Given the description of an element on the screen output the (x, y) to click on. 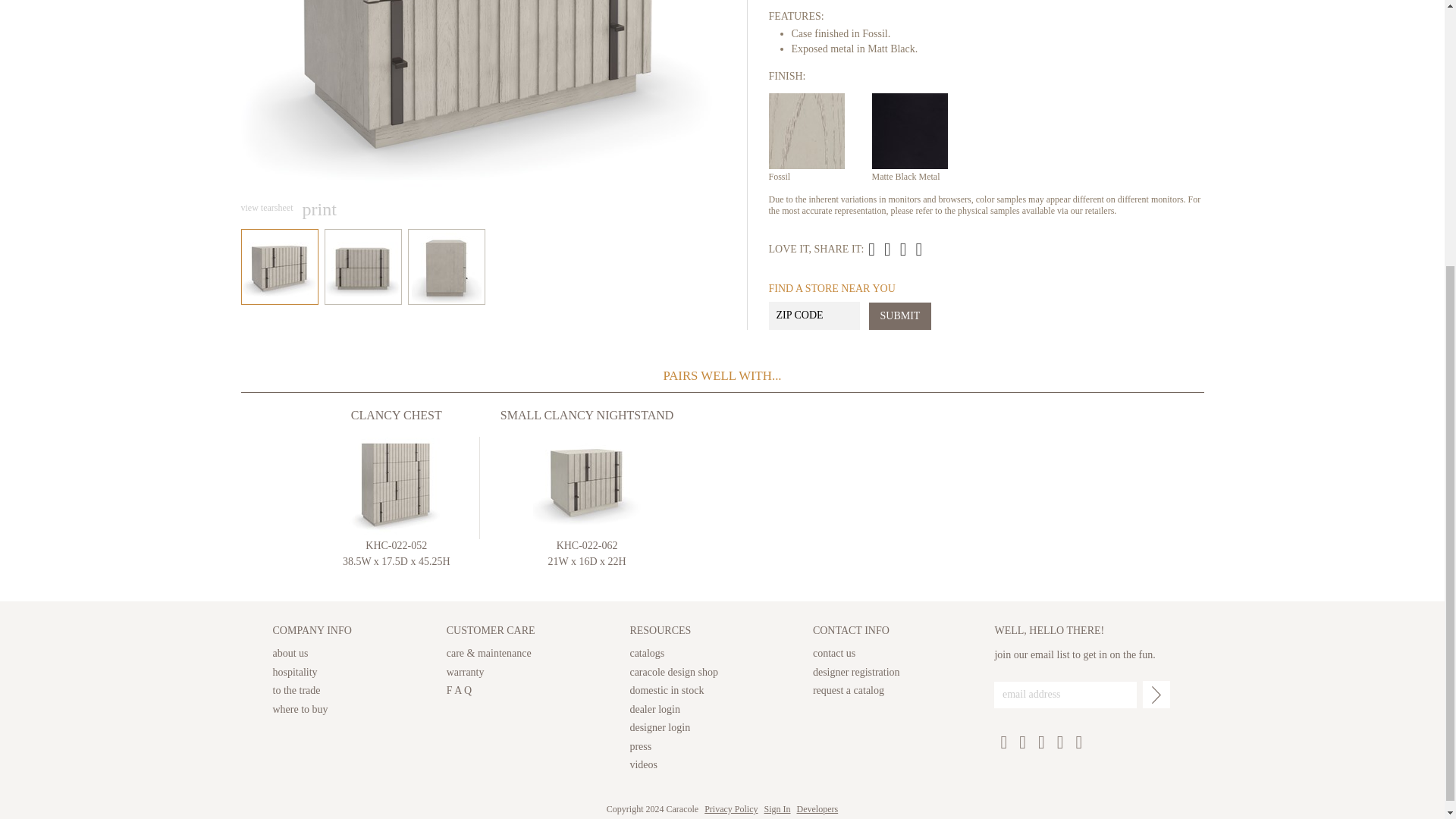
Large Clancy Nightstand (894, 249)
